Given the description of an element on the screen output the (x, y) to click on. 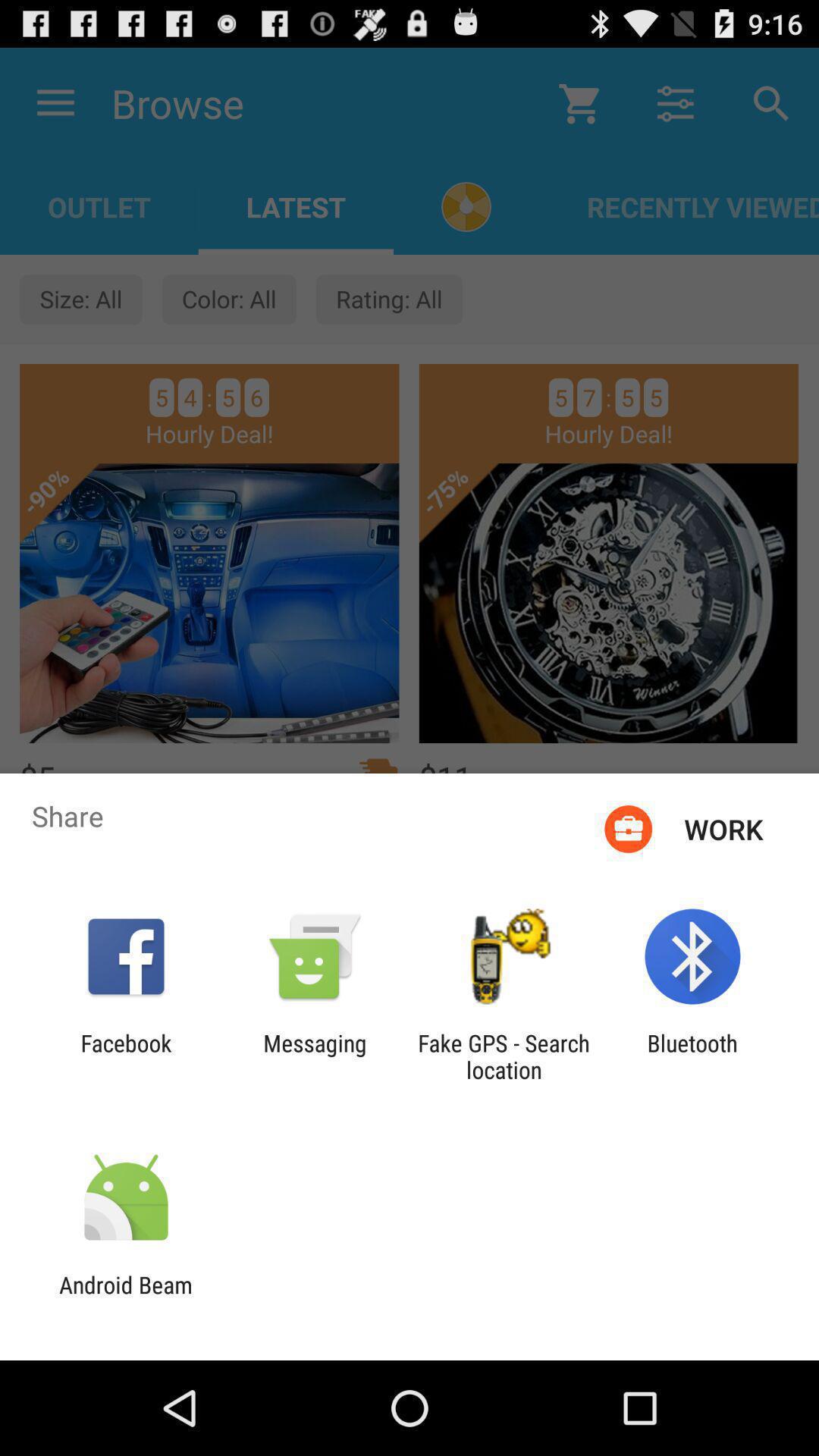
select the fake gps search app (503, 1056)
